Given the description of an element on the screen output the (x, y) to click on. 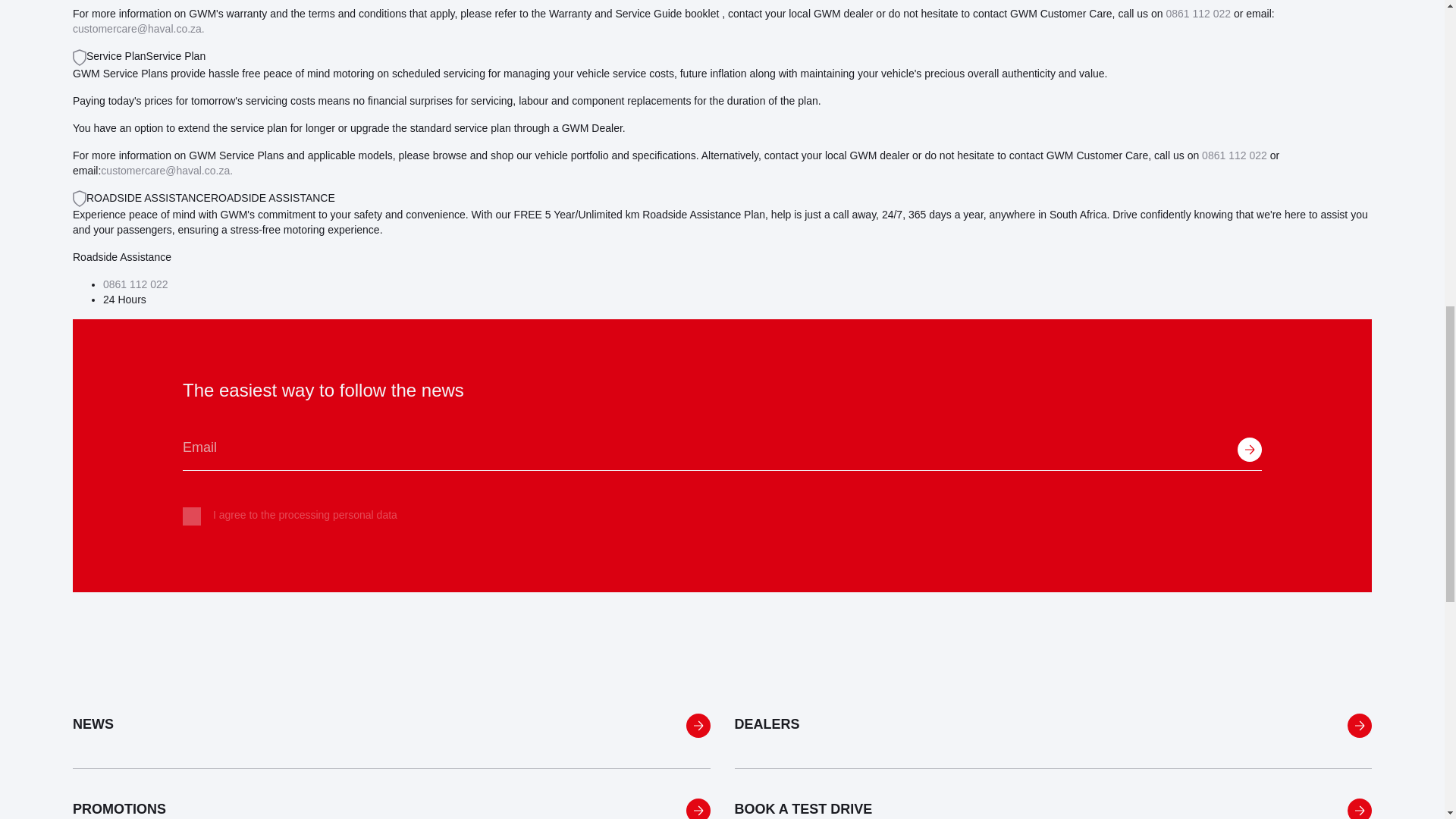
NEWS (391, 725)
DEALERS (1052, 725)
PROMOTIONS (391, 793)
0861 112 022 (135, 284)
ROADSIDE ASSISTANCEROADSIDE ASSISTANCE (203, 197)
personal data (365, 514)
BOOK A TEST DRIVE (1052, 793)
Service PlanService Plan (138, 55)
0861 112 022 (1234, 155)
0861 112 022 (1198, 13)
